Given the description of an element on the screen output the (x, y) to click on. 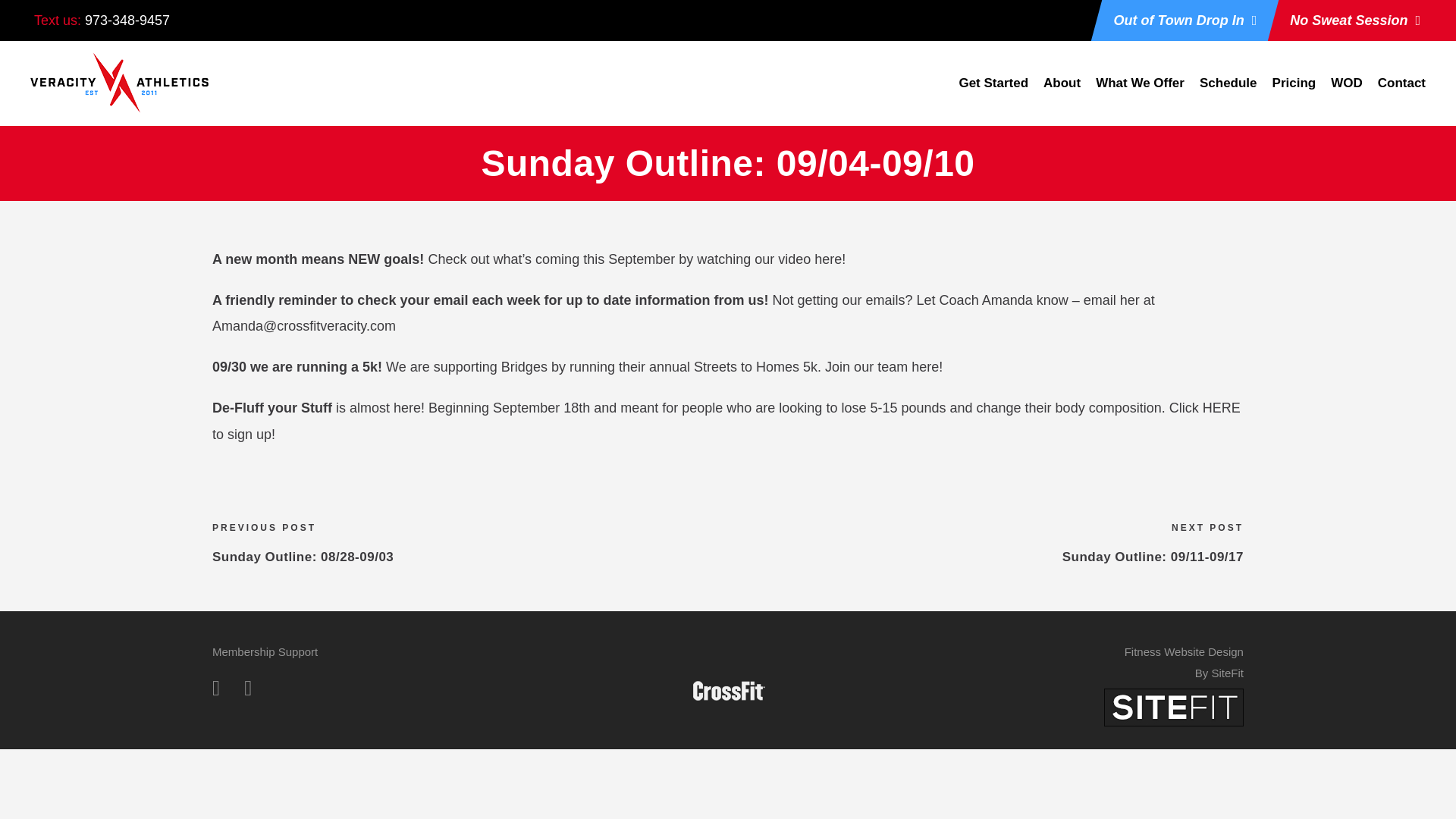
Fitness Website Design By SiteFit (1183, 662)
Pricing (1294, 91)
Join our team here! (883, 366)
Get Started (992, 91)
Membership Support (264, 651)
Schedule (1228, 91)
Fitness Website Design By SiteFit (1173, 706)
Contact (1401, 91)
973-348-9457 (127, 20)
watching our video here (769, 258)
